Given the description of an element on the screen output the (x, y) to click on. 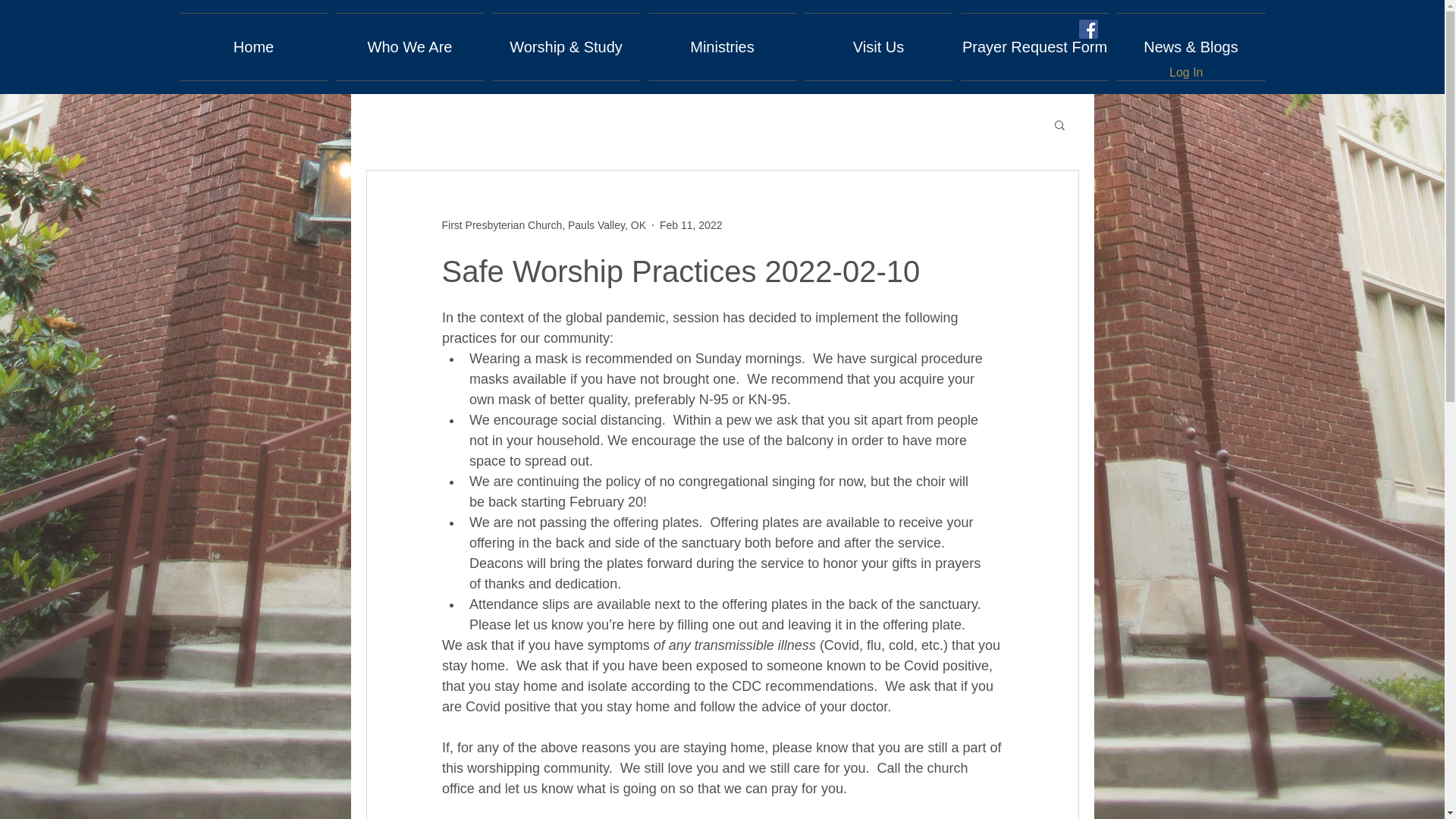
Prayer Request Form (1034, 47)
Feb 11, 2022 (690, 224)
Ministries (722, 47)
Visit Us (878, 47)
Home (253, 47)
First Presbyterian Church, Pauls Valley, OK (543, 224)
Log In (1185, 72)
First Presbyterian Church, Pauls Valley, OK (543, 224)
Who We Are (409, 47)
